Given the description of an element on the screen output the (x, y) to click on. 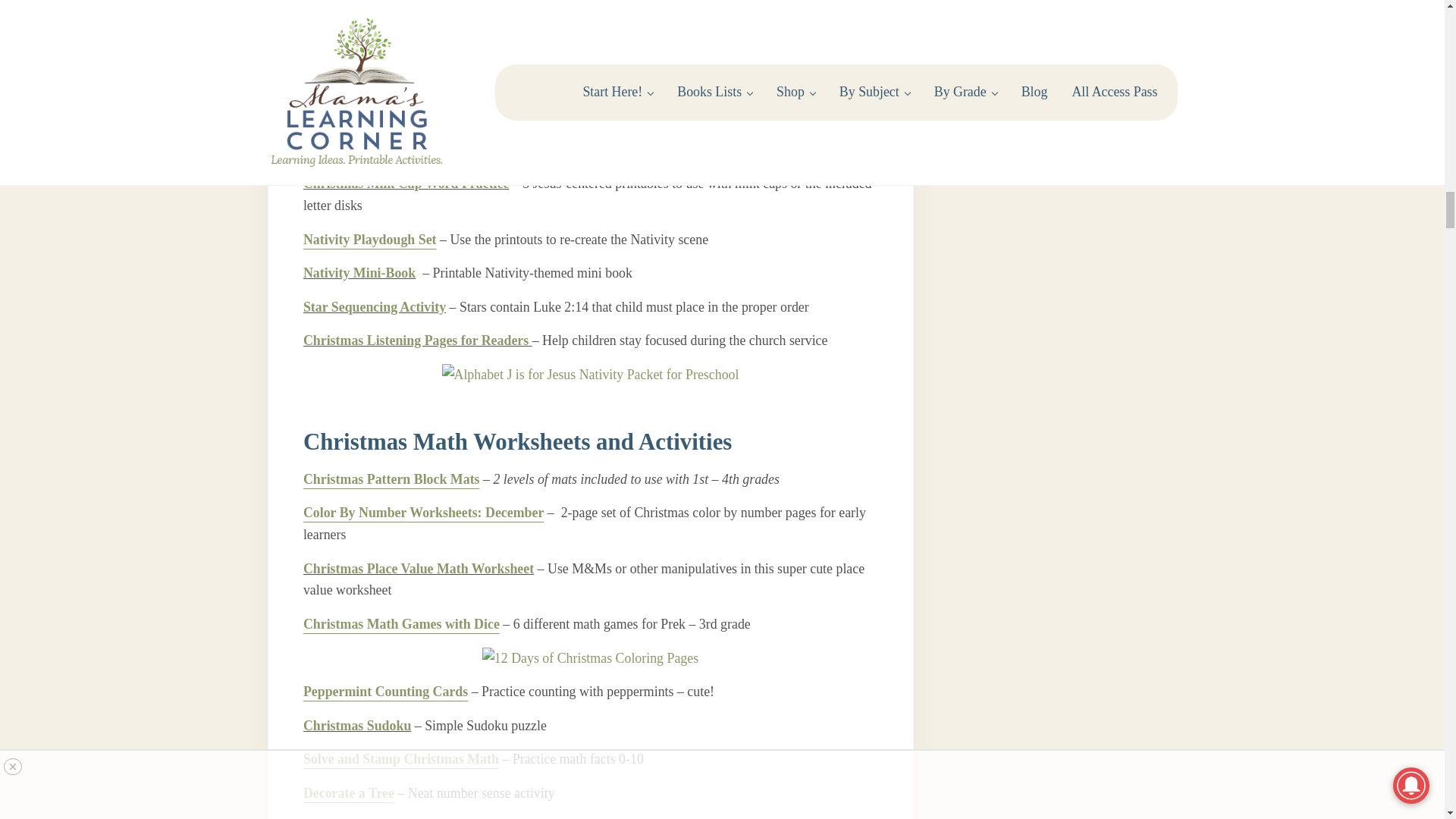
Printable Nativity Set (365, 14)
Christmas Match Game (372, 81)
